Given the description of an element on the screen output the (x, y) to click on. 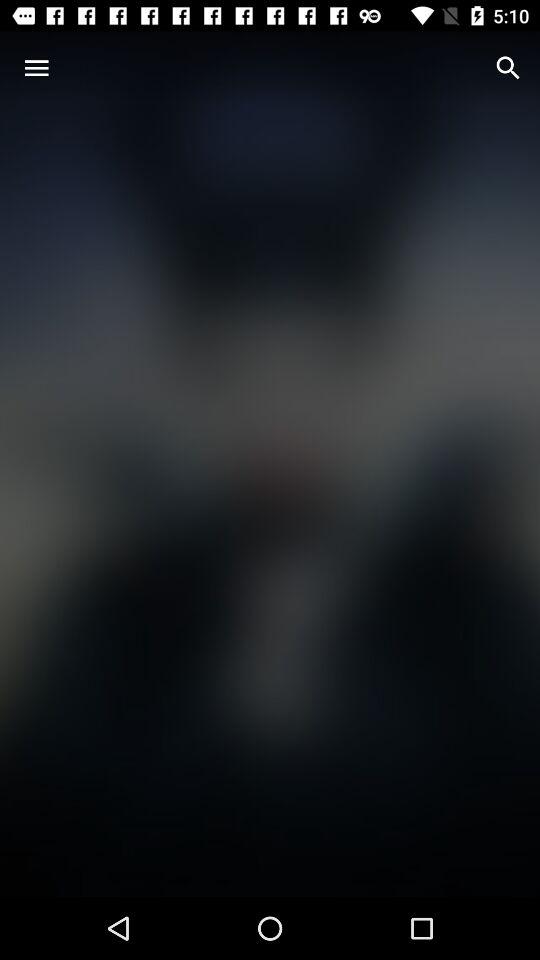
launch icon at the top left corner (36, 68)
